Given the description of an element on the screen output the (x, y) to click on. 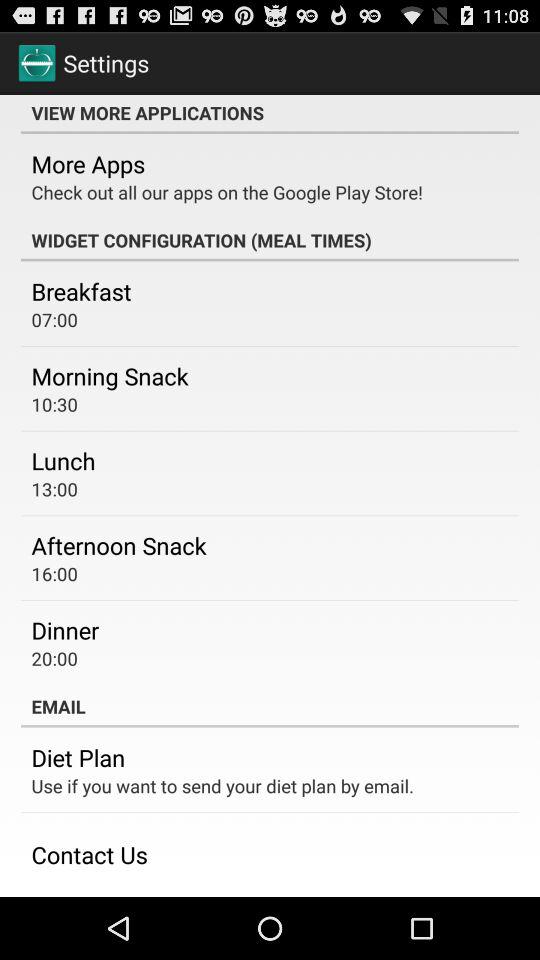
turn off the icon above the lunch icon (54, 403)
